Given the description of an element on the screen output the (x, y) to click on. 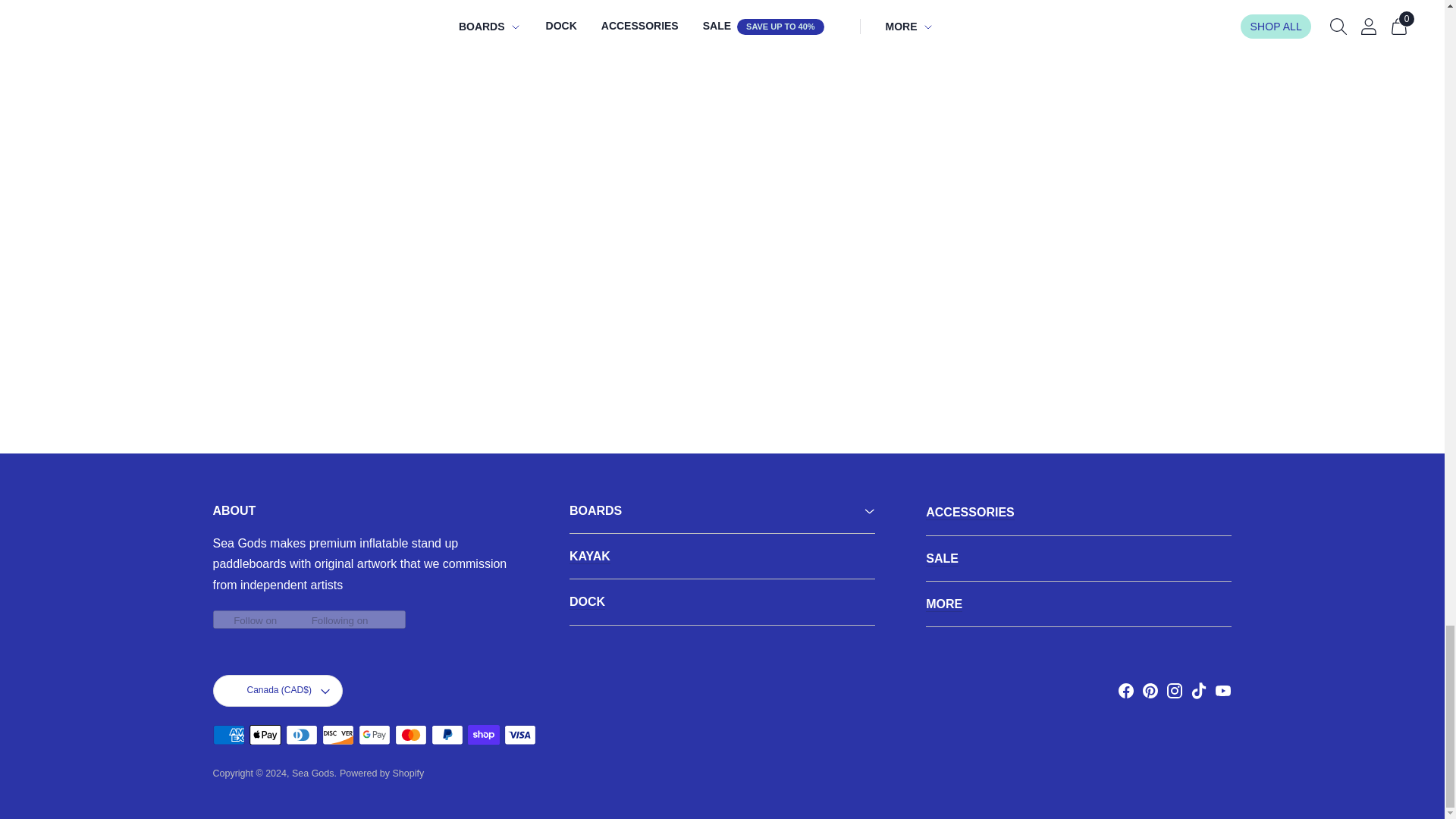
PayPal (446, 734)
Google Pay (374, 734)
Apple Pay (264, 734)
Mastercard (410, 734)
Discover (337, 734)
American Express (228, 734)
Shop Pay (483, 734)
Diners Club (301, 734)
